Given the description of an element on the screen output the (x, y) to click on. 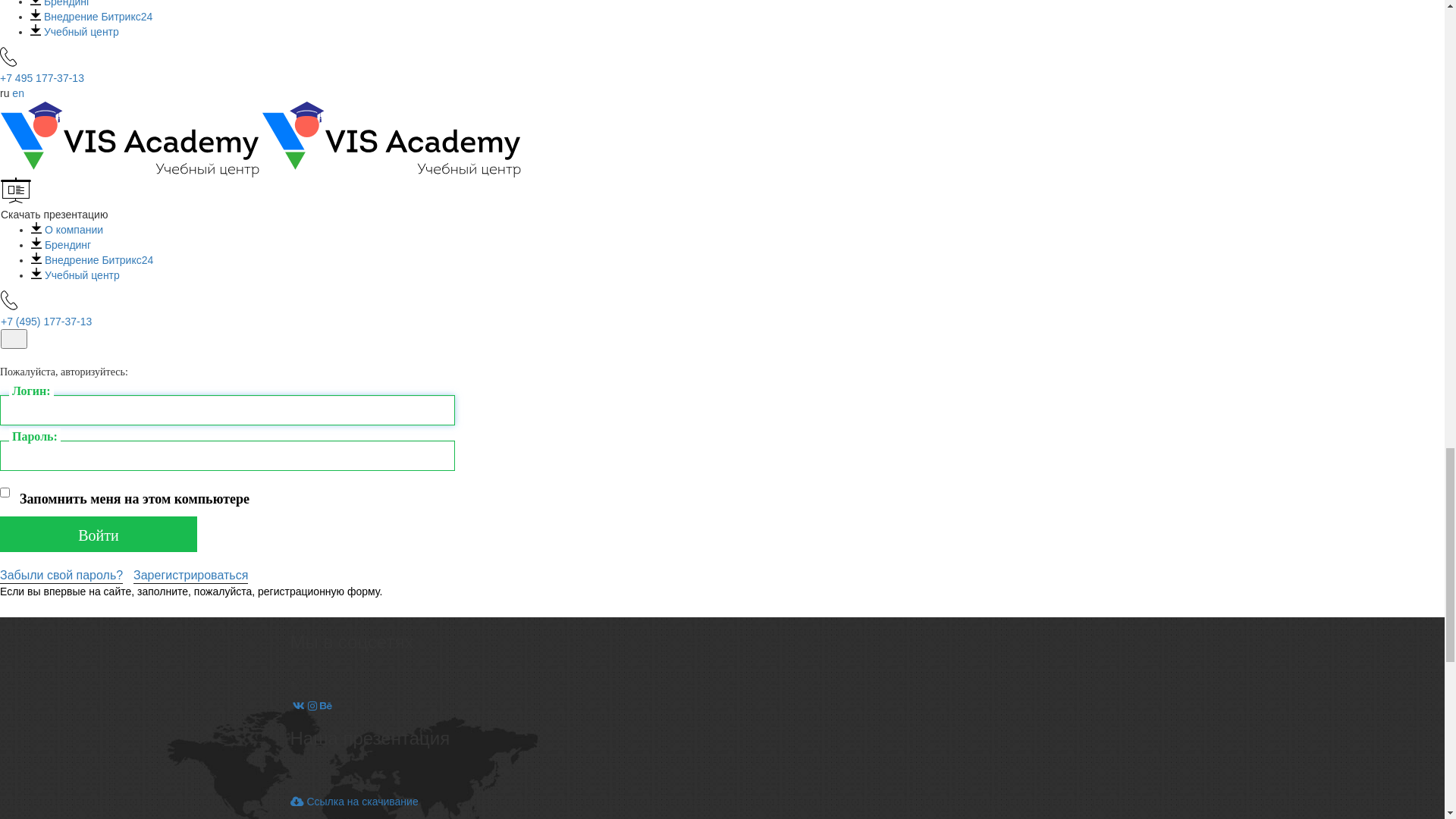
+7 (495) 177-37-13 Element type: text (64, 31)
